Given the description of an element on the screen output the (x, y) to click on. 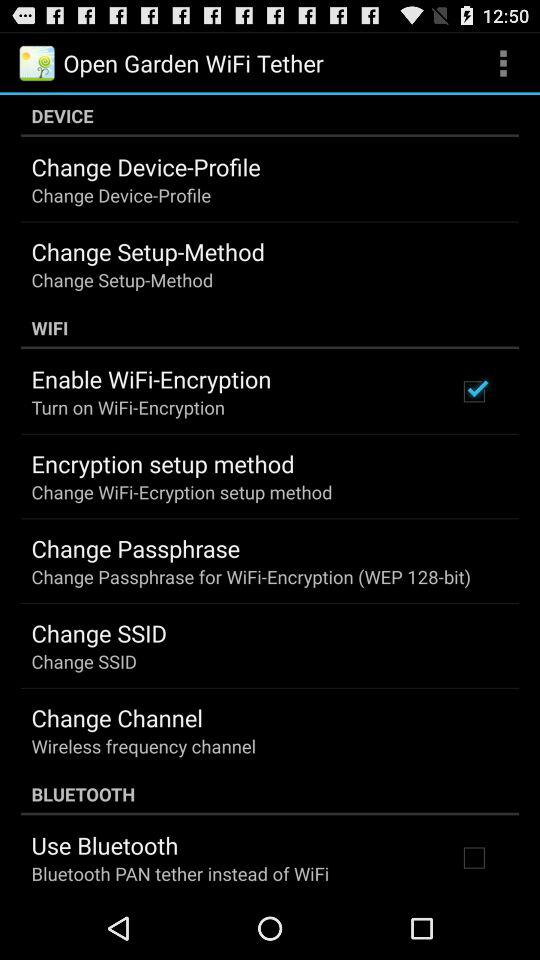
turn on bluetooth pan tether app (180, 873)
